Given the description of an element on the screen output the (x, y) to click on. 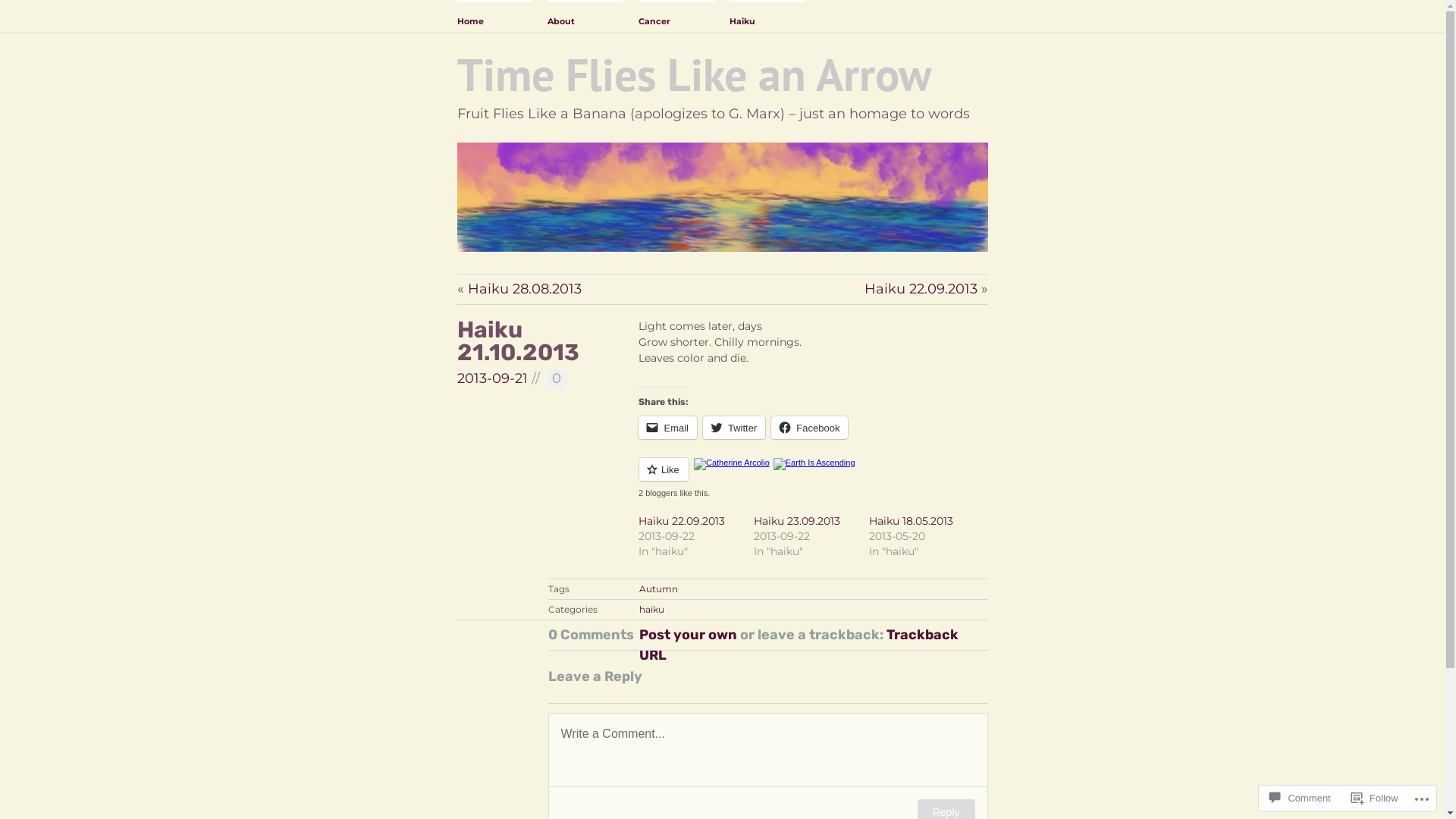
Autumn Element type: text (658, 588)
Haiku 23.09.2013 Element type: text (796, 520)
Facebook Element type: text (809, 427)
Follow Element type: text (1374, 797)
Post your own Element type: text (687, 634)
About Element type: text (585, 16)
Haiku 21.10.2013 Element type: text (517, 341)
Haiku 28.08.2013 Element type: text (523, 288)
Haiku 18.05.2013 Element type: text (911, 520)
Home Element type: text (494, 16)
Haiku 22.09.2013 Element type: text (681, 520)
Time Flies Like an Arrow Element type: text (693, 73)
Like or Reblog Element type: hover (812, 477)
Email Element type: text (667, 427)
Cancer Element type: text (676, 16)
haiku Element type: text (651, 609)
0 Element type: text (556, 380)
Twitter Element type: text (733, 427)
2013-09-21 Element type: text (491, 378)
Trackback URL Element type: text (797, 644)
Haiku 22.09.2013 Element type: text (920, 288)
Haiku Element type: text (767, 16)
Comment Element type: text (1299, 797)
